Given the description of an element on the screen output the (x, y) to click on. 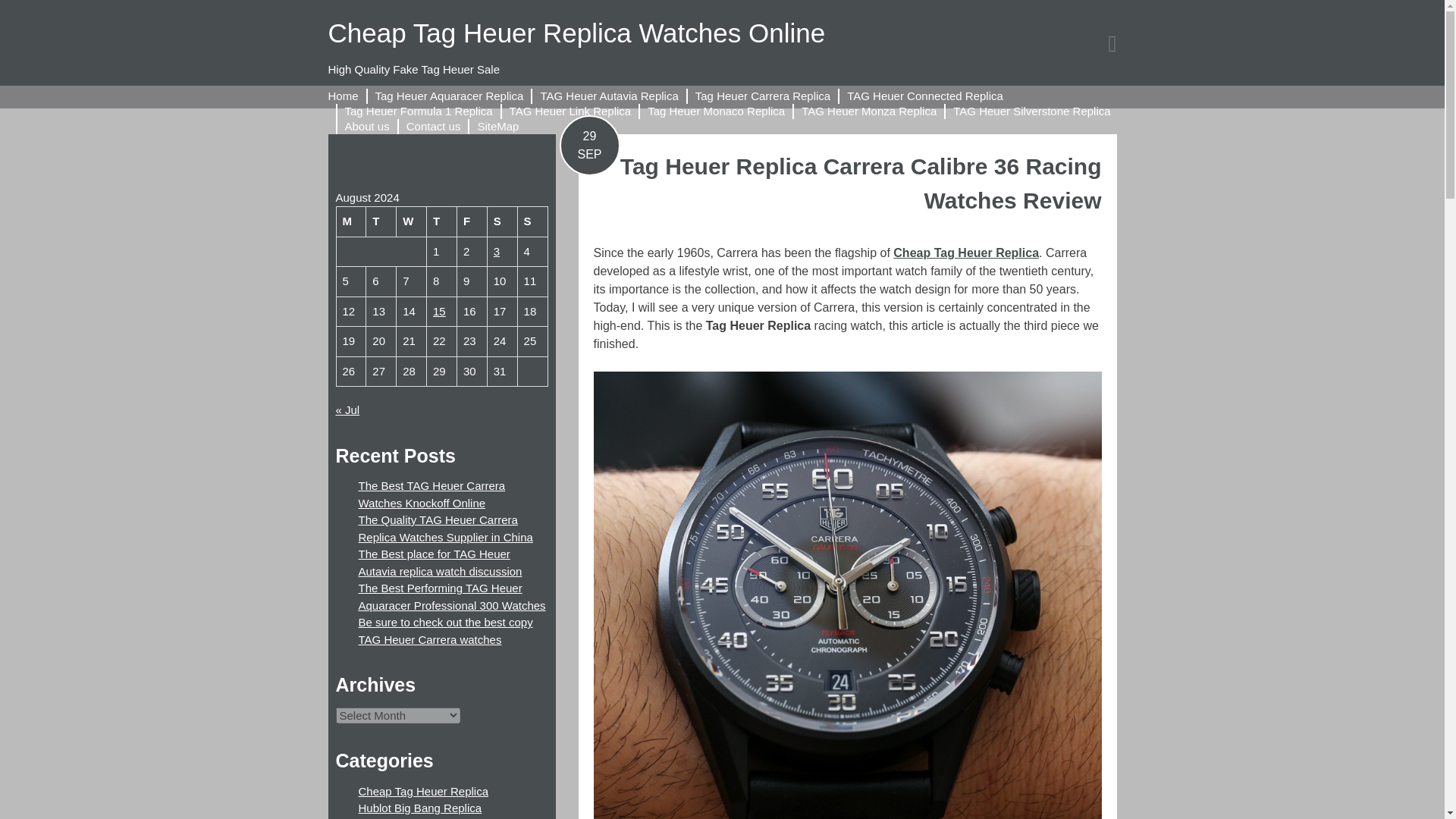
Contact us (433, 126)
SiteMap (497, 126)
Wednesday (411, 221)
Thursday (441, 221)
Home (342, 96)
About us (365, 126)
TAG Heuer Autavia Replica (609, 96)
TAG Heuer Monza Replica (869, 111)
Friday (471, 221)
TAG Heuer Silverstone Replica (1031, 111)
